Given the description of an element on the screen output the (x, y) to click on. 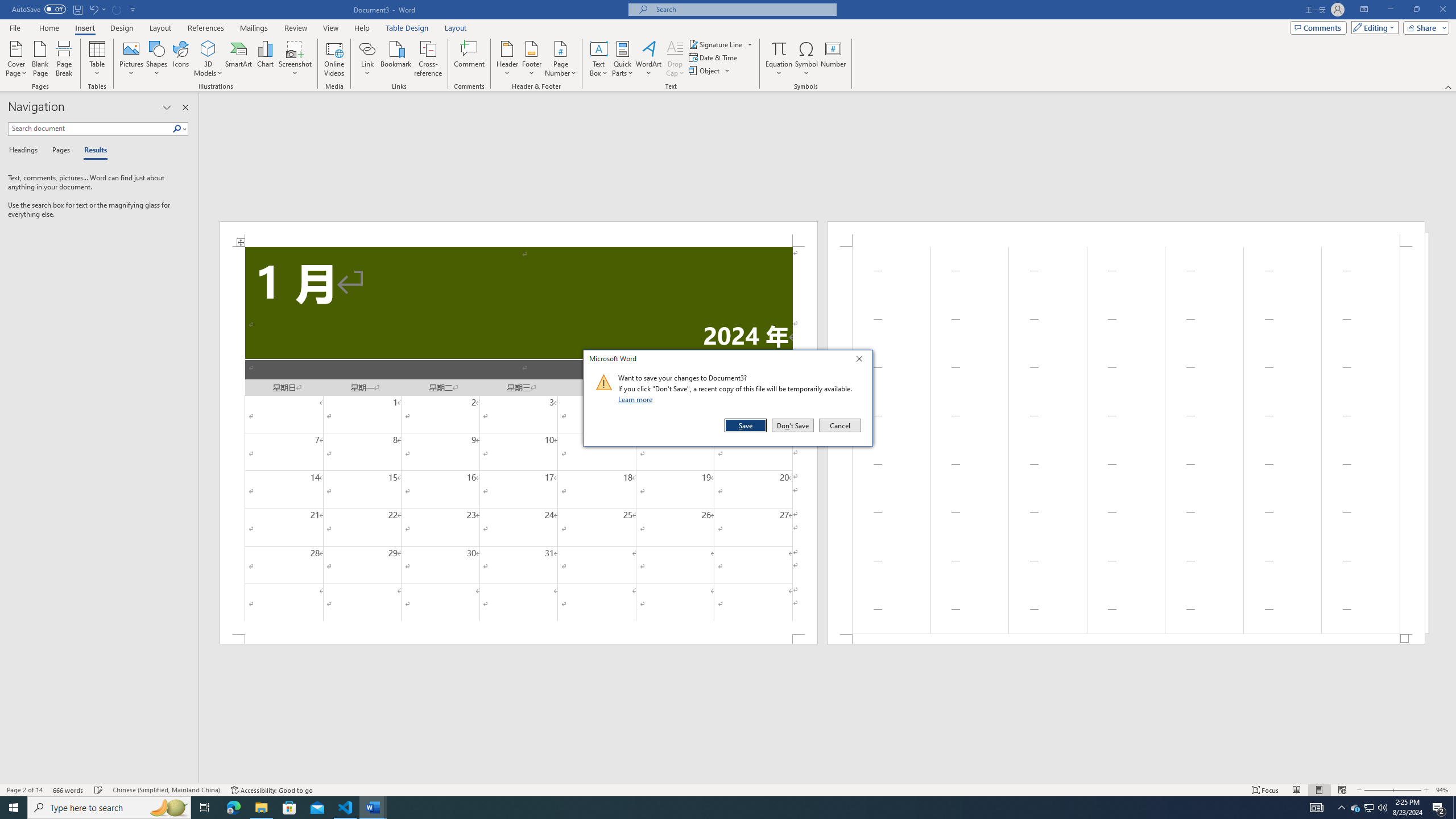
Page Break (63, 58)
Bookmark... (396, 58)
Quick Parts (622, 58)
Symbol (806, 58)
Link (367, 58)
Drop Cap (674, 58)
